Given the description of an element on the screen output the (x, y) to click on. 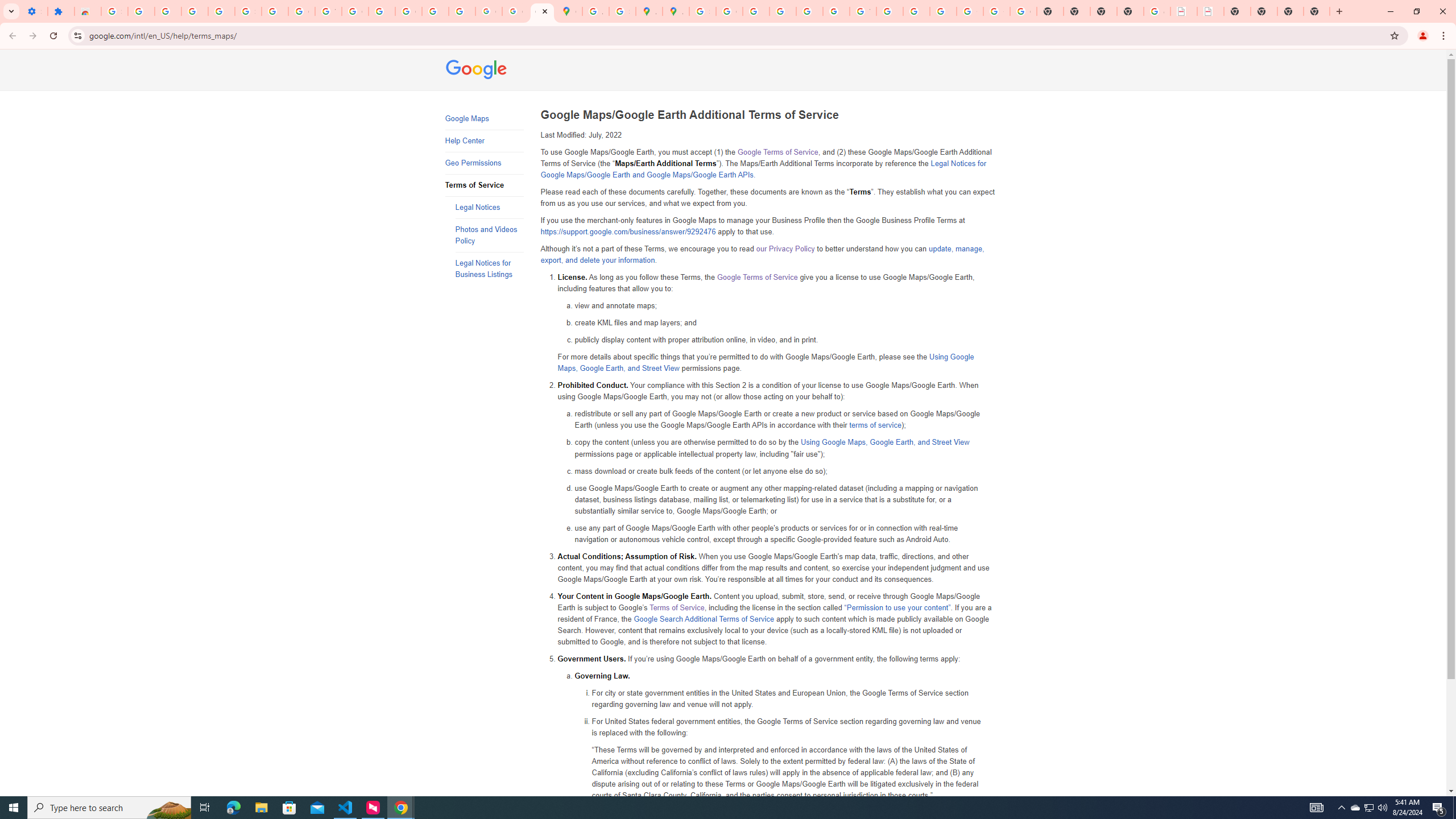
New Tab (1316, 11)
Google Account (301, 11)
update, manage, export, and delete your information (762, 254)
